Given the description of an element on the screen output the (x, y) to click on. 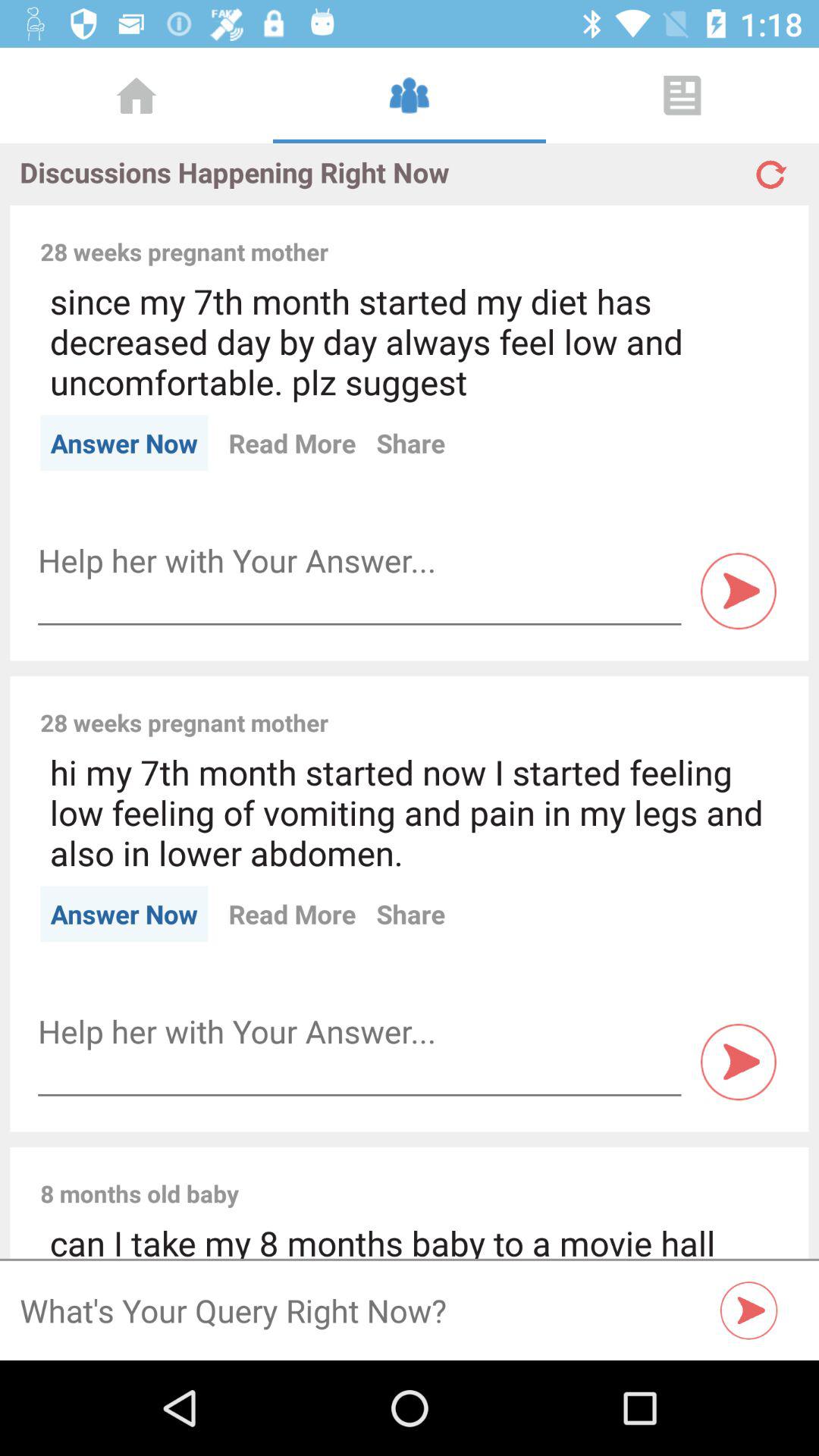
search query (749, 1310)
